Given the description of an element on the screen output the (x, y) to click on. 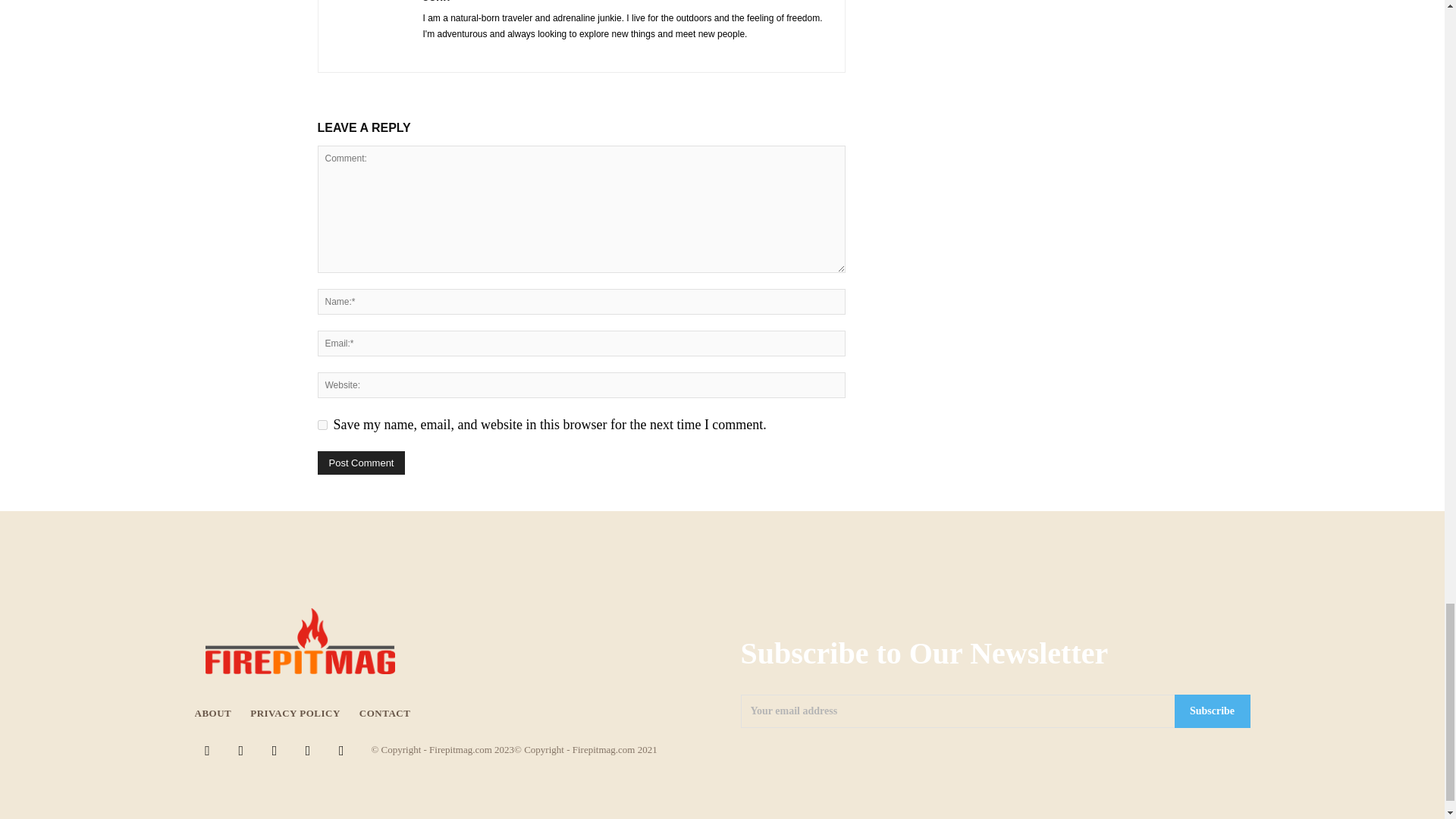
Post Comment (360, 463)
yes (321, 424)
John (436, 1)
Post Comment (360, 463)
